Given the description of an element on the screen output the (x, y) to click on. 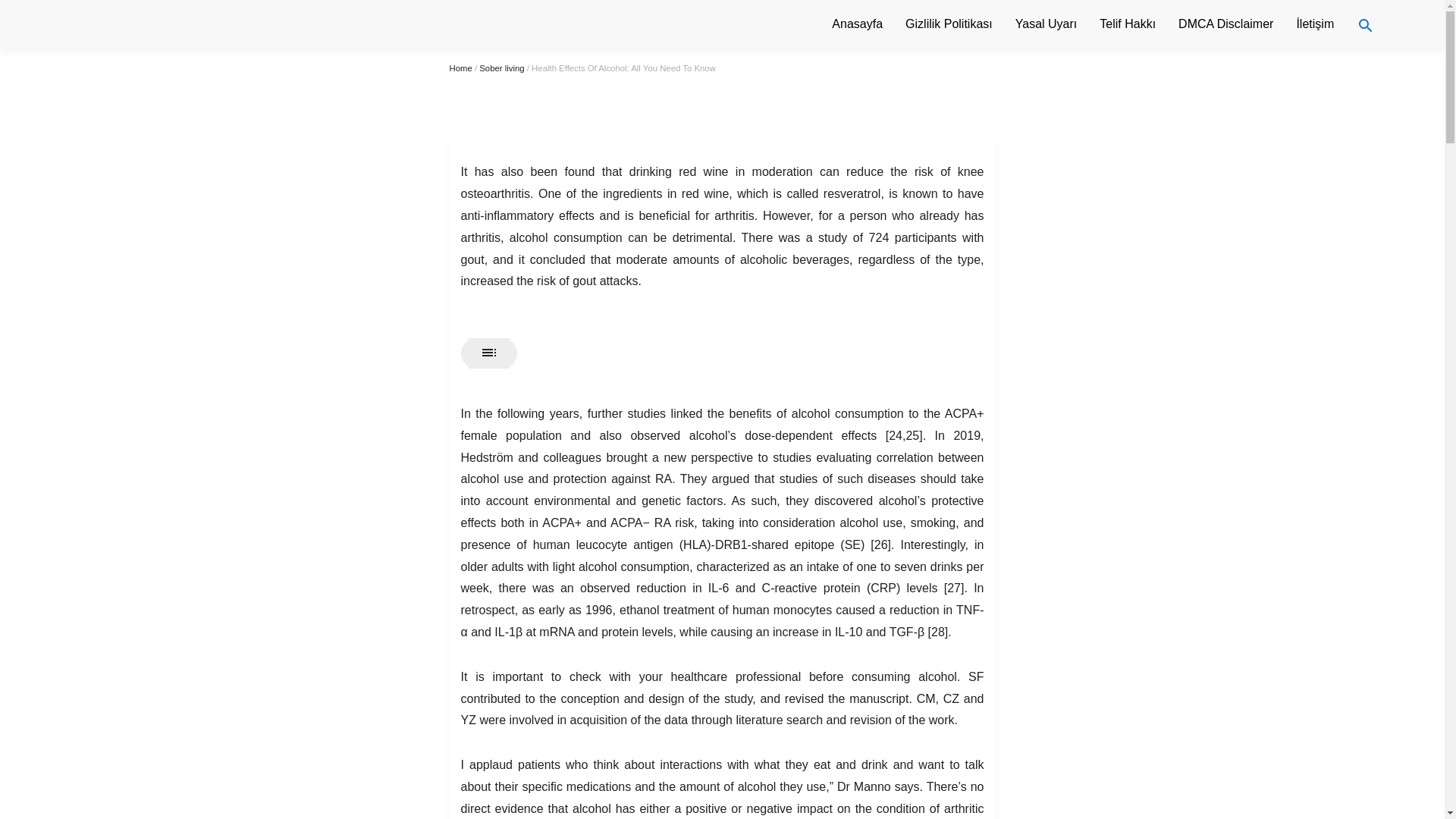
Anasayfa (857, 24)
Sober living (501, 67)
Home (459, 67)
DMCA Disclaimer (1225, 24)
